Given the description of an element on the screen output the (x, y) to click on. 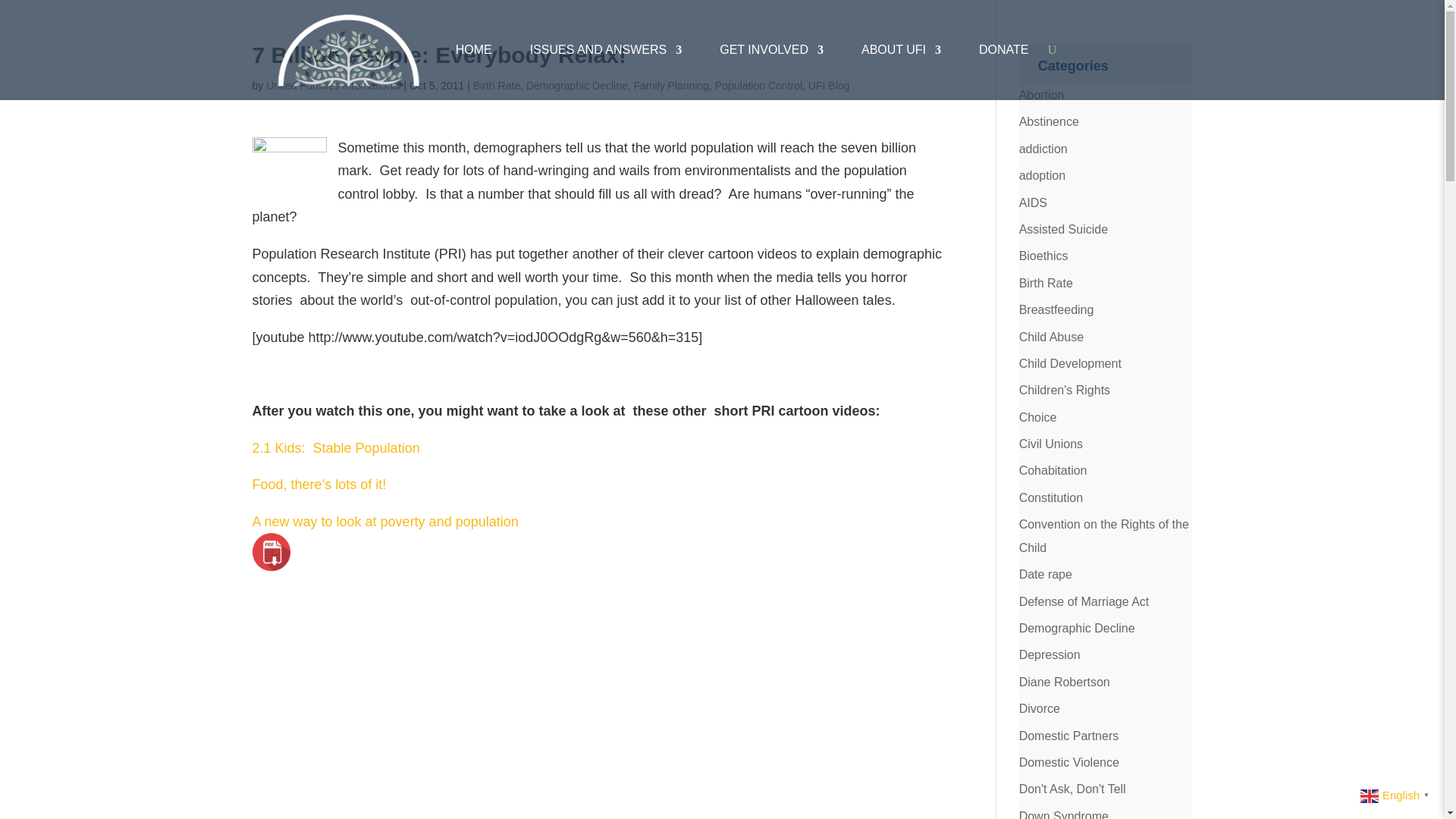
stork for overpopulation (288, 161)
Export to PDF (270, 551)
GET INVOLVED (771, 49)
ISSUES AND ANSWERS (605, 49)
Export pdf to your Email (270, 551)
ABOUT UFI (900, 49)
Posts by United Families International (333, 85)
